Given the description of an element on the screen output the (x, y) to click on. 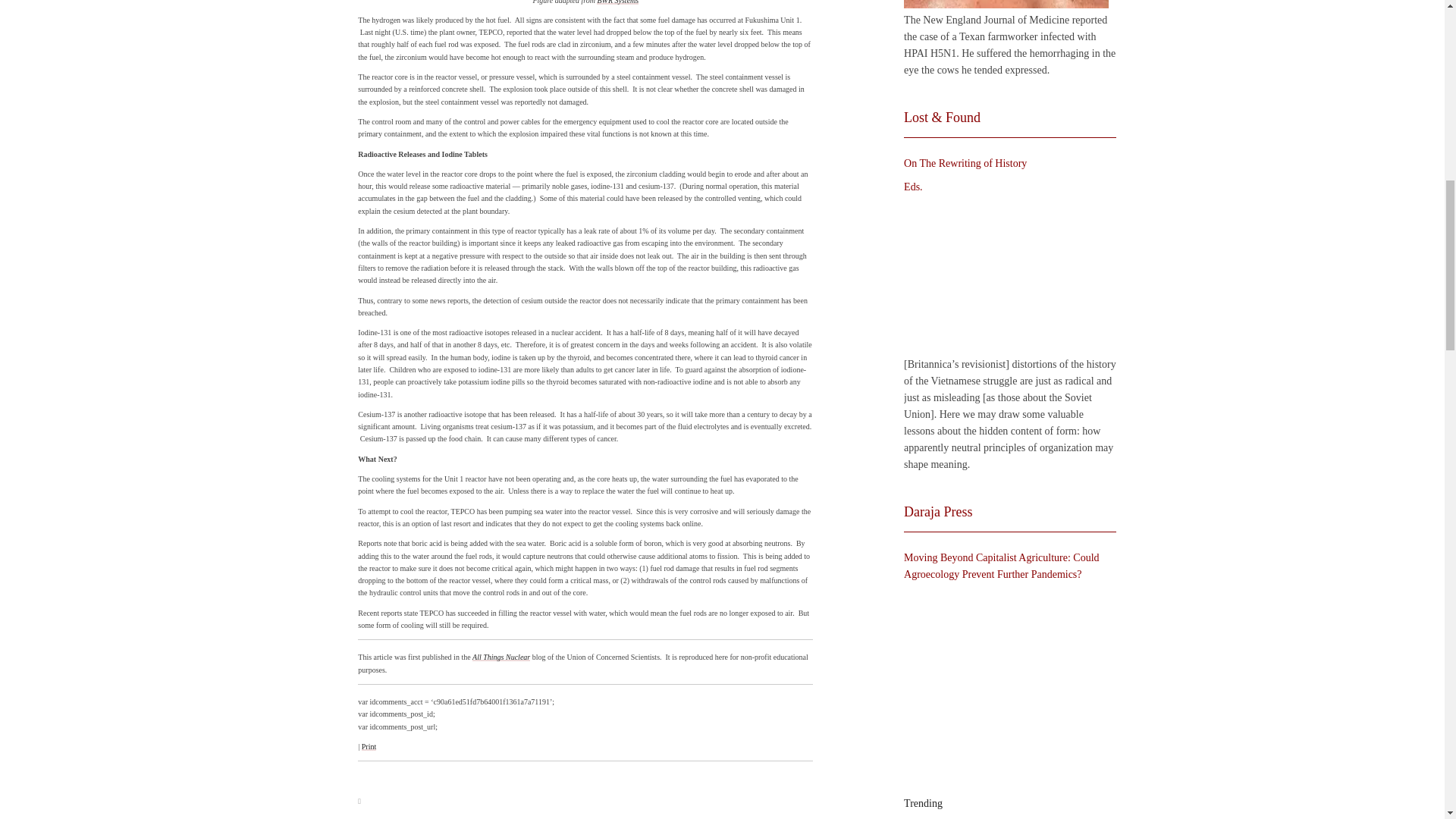
Posts by Eds. (913, 187)
On The Rewriting of History (1006, 275)
Whether Bird Flu Is on the March Misses the Point (1006, 4)
